Given the description of an element on the screen output the (x, y) to click on. 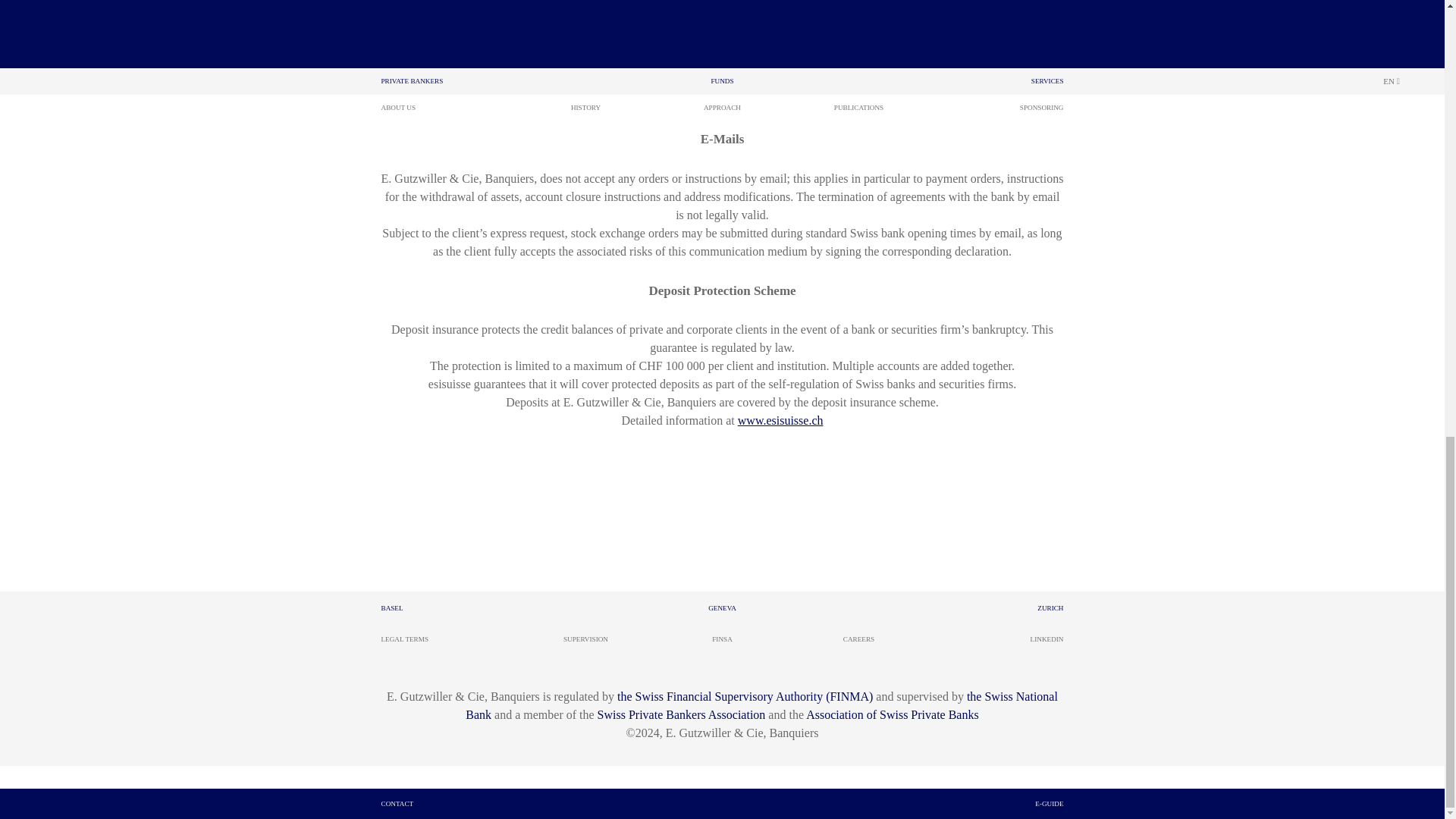
the Swiss National Bank (761, 705)
CAREERS (859, 638)
FINSA (721, 638)
ZURICH (1049, 607)
Association of Swiss Private Banks (892, 714)
LEGAL TERMS (404, 638)
www.esisuisse.ch (781, 420)
BASEL (391, 607)
LINKEDIN (1047, 638)
GENEVA (721, 607)
